Given the description of an element on the screen output the (x, y) to click on. 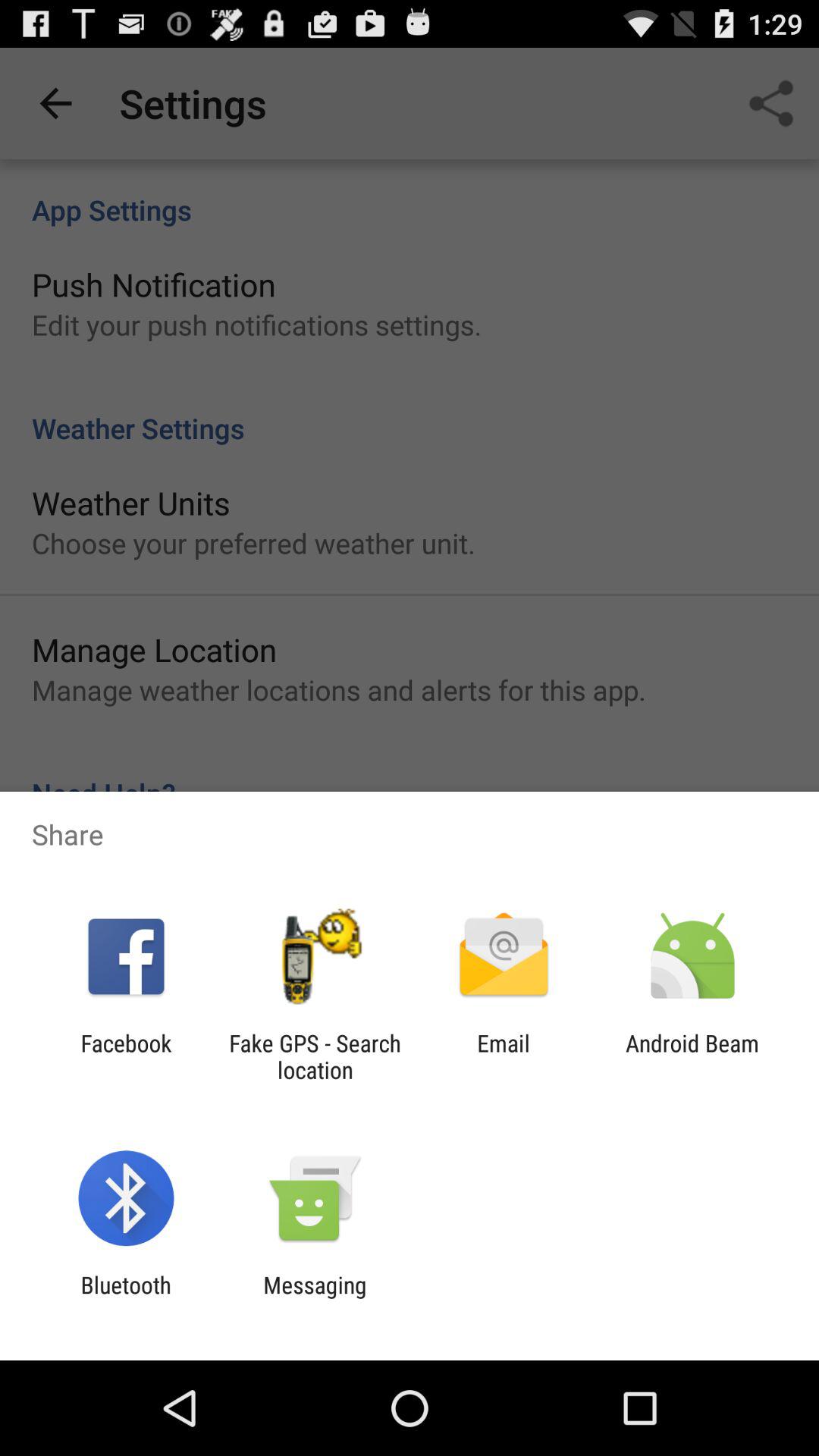
choose the item to the left of the email app (314, 1056)
